Given the description of an element on the screen output the (x, y) to click on. 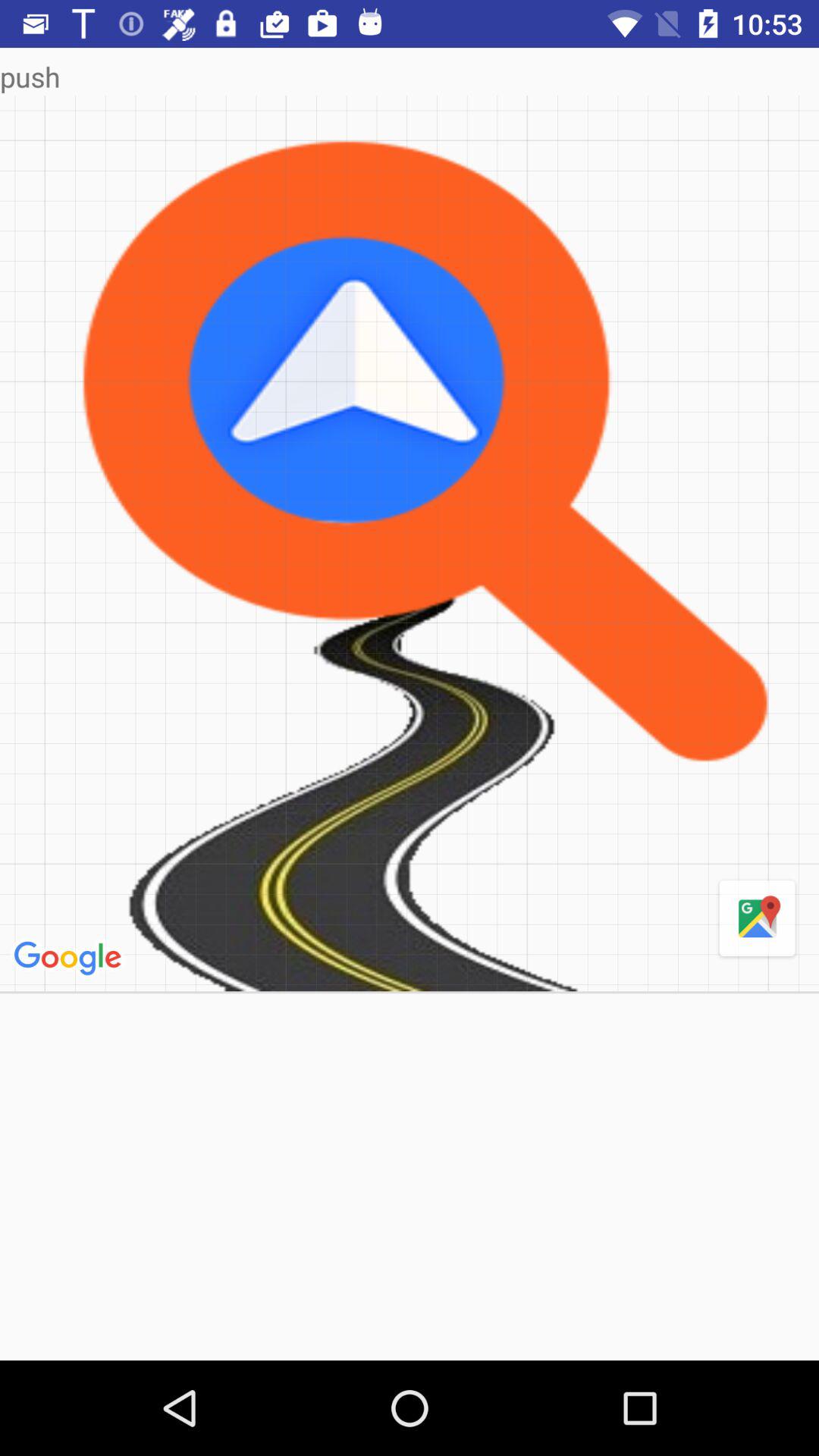
open the item below the push (757, 919)
